Given the description of an element on the screen output the (x, y) to click on. 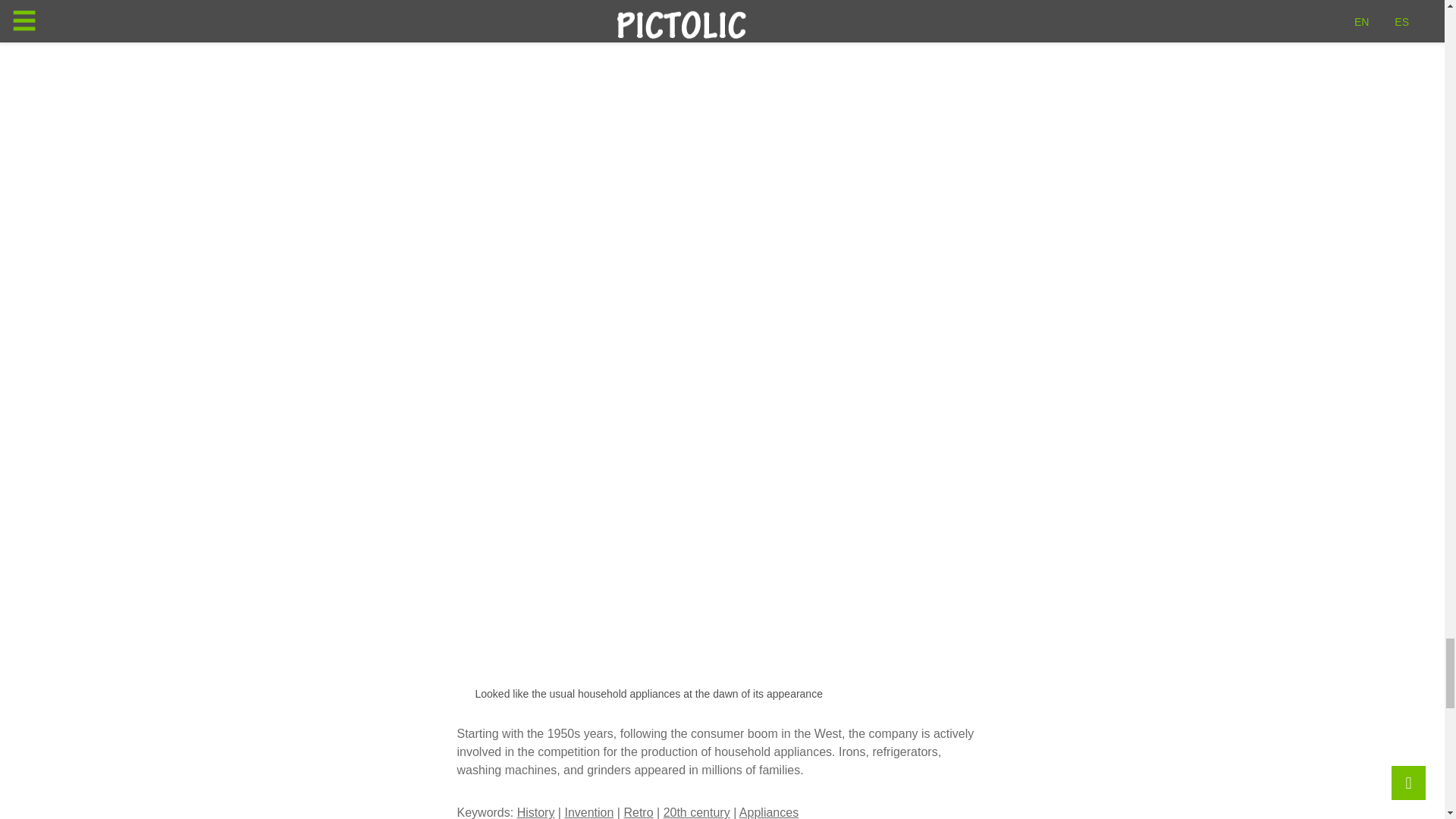
Retro (637, 812)
Invention (588, 812)
Appliances (768, 812)
20th century (696, 812)
History (535, 812)
